Given the description of an element on the screen output the (x, y) to click on. 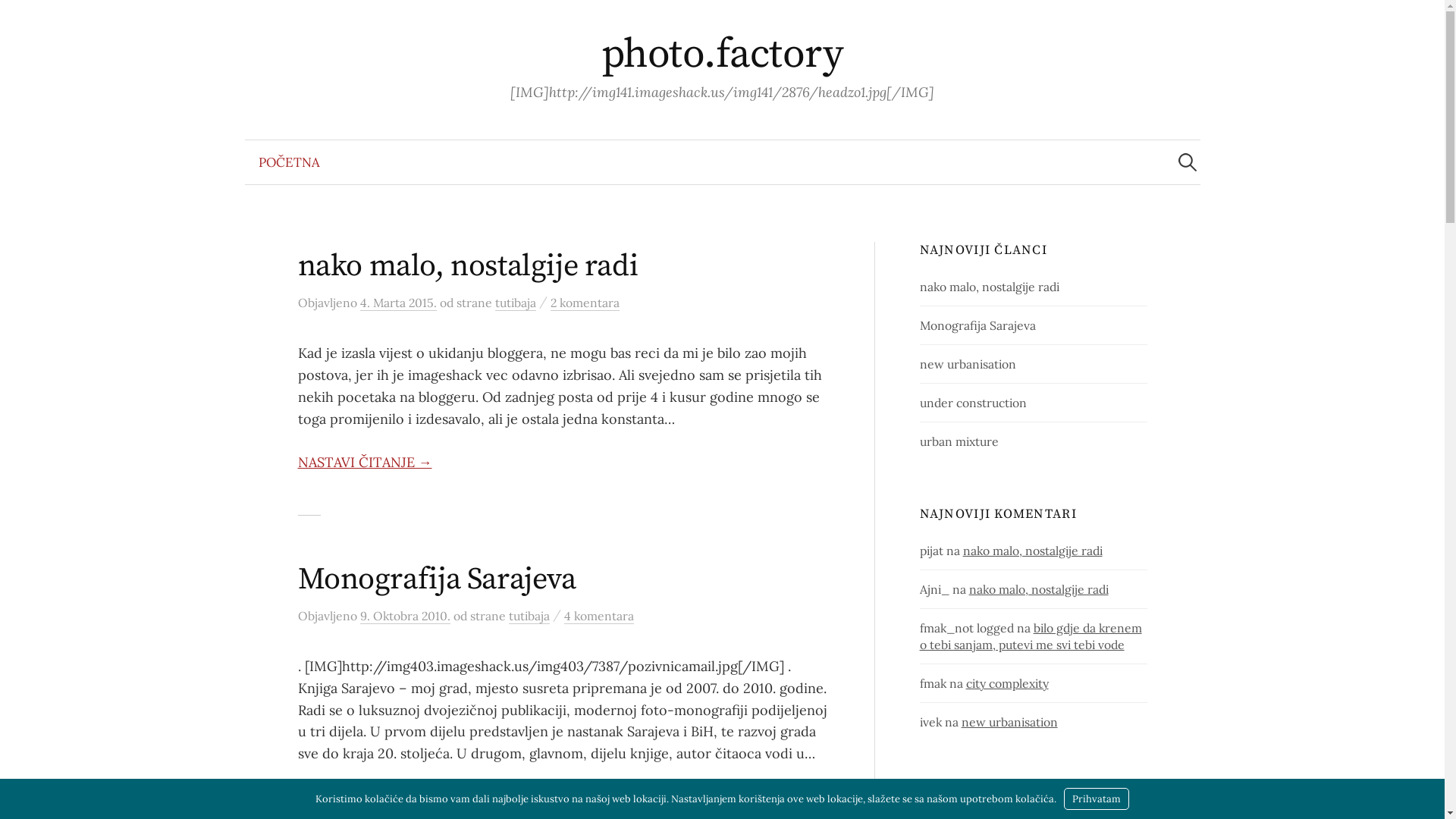
bilo gdje da krenem o tebi sanjam, putevi me svi tebi vode Element type: text (1030, 636)
Pretraga Element type: text (18, 18)
Monografija Sarajeva Element type: text (977, 324)
4. Marta 2015. Element type: text (397, 302)
nako malo, nostalgije radi Element type: text (989, 286)
tutibaja Element type: text (528, 616)
urban mixture Element type: text (958, 440)
photo.factory Element type: text (722, 54)
Monografija Sarajeva Element type: text (436, 579)
under construction Element type: text (972, 402)
nako malo, nostalgije radi Element type: text (467, 266)
new urbanisation Element type: text (1009, 721)
9. Oktobra 2010. Element type: text (404, 616)
4 komentara
za Monografija Sarajeva Element type: text (598, 616)
city complexity Element type: text (1007, 682)
Prihvatam Element type: text (1096, 798)
nako malo, nostalgije radi Element type: text (1038, 588)
nako malo, nostalgije radi Element type: text (1032, 550)
new urbanisation Element type: text (967, 363)
2 komentara
za nako malo, nostalgije radi Element type: text (584, 302)
tutibaja Element type: text (514, 302)
